Given the description of an element on the screen output the (x, y) to click on. 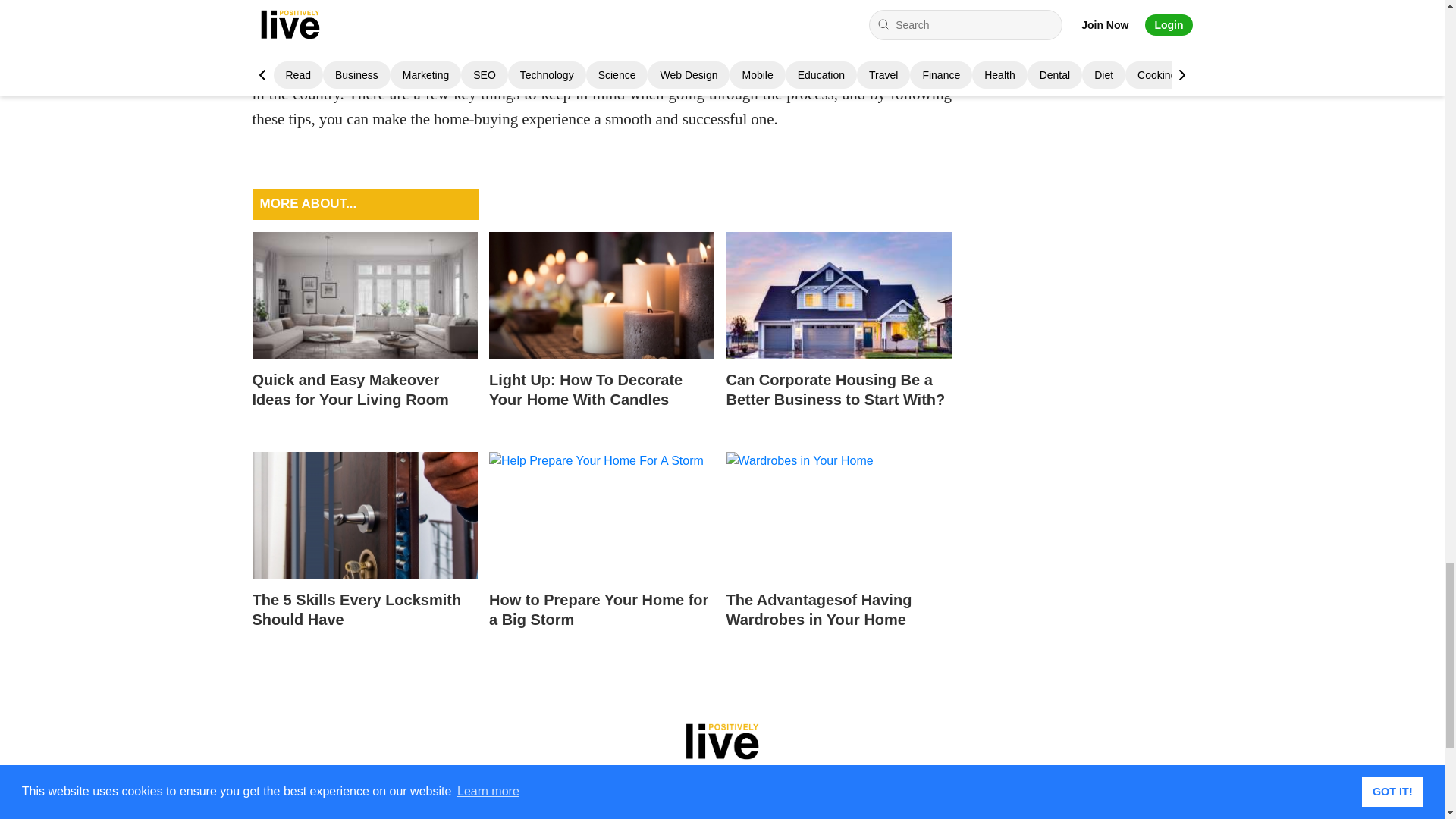
Can Corporate Housing Be a Better Business to Start With? (839, 333)
Light Up: How To Decorate Your Home With Candles (601, 333)
The 5 Skills Every Locksmith Should Have (364, 554)
Quick and Easy Makeover Ideas for Your Living Room (364, 294)
Quick and Easy Makeover Ideas for Your Living Room (364, 333)
Short term apartments (839, 294)
Light Up: How To Decorate Your Home With Candles (601, 294)
Skills Every Locksmith Should Have (364, 515)
Wardrobes in Your Home (839, 515)
Help Prepare Your Home For A Storm (601, 515)
The Advantagesof Having Wardrobes in Your Home (839, 554)
How to Prepare Your Home for a Big Storm (601, 554)
